Given the description of an element on the screen output the (x, y) to click on. 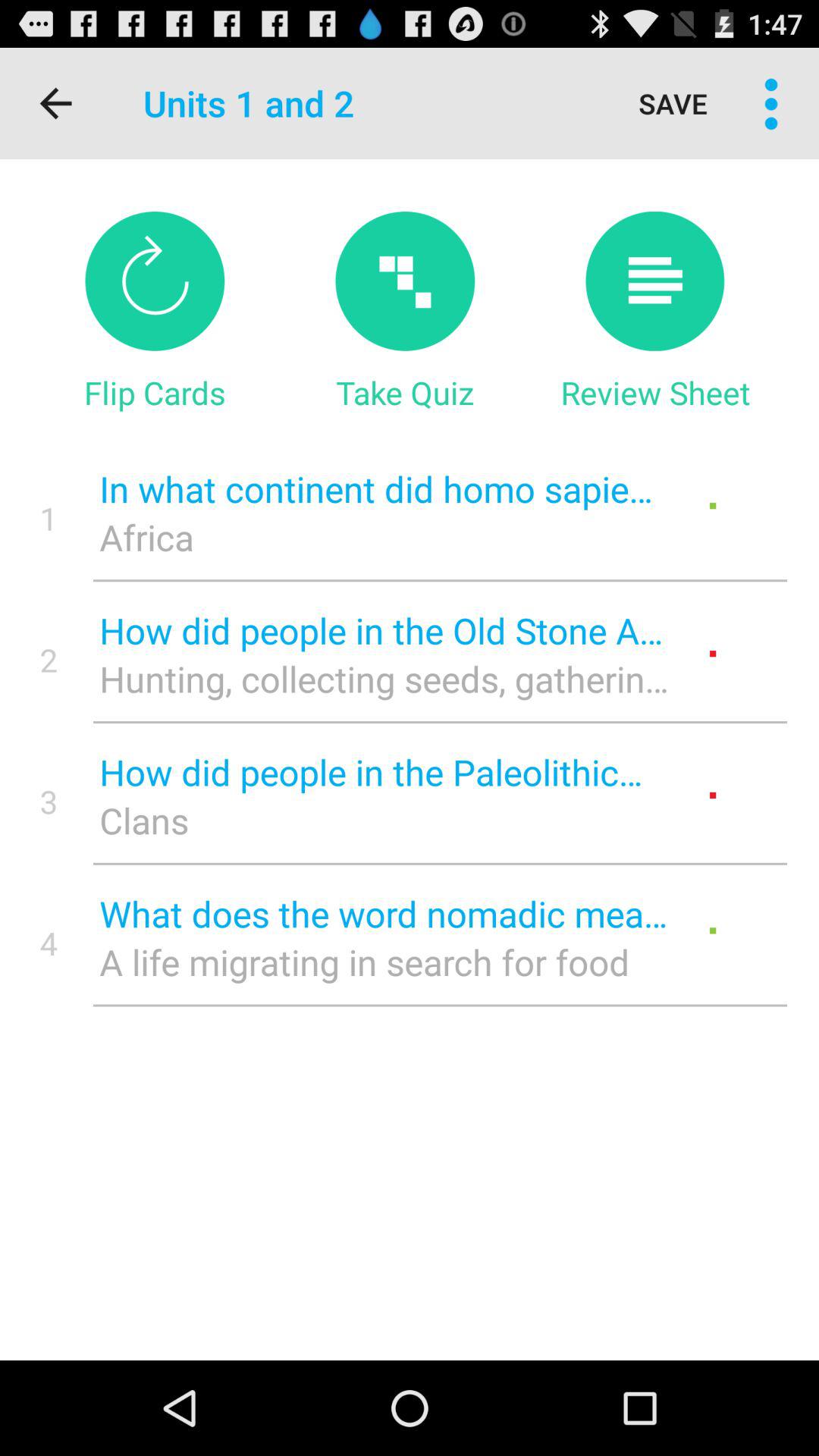
flip until review sheet item (655, 392)
